Given the description of an element on the screen output the (x, y) to click on. 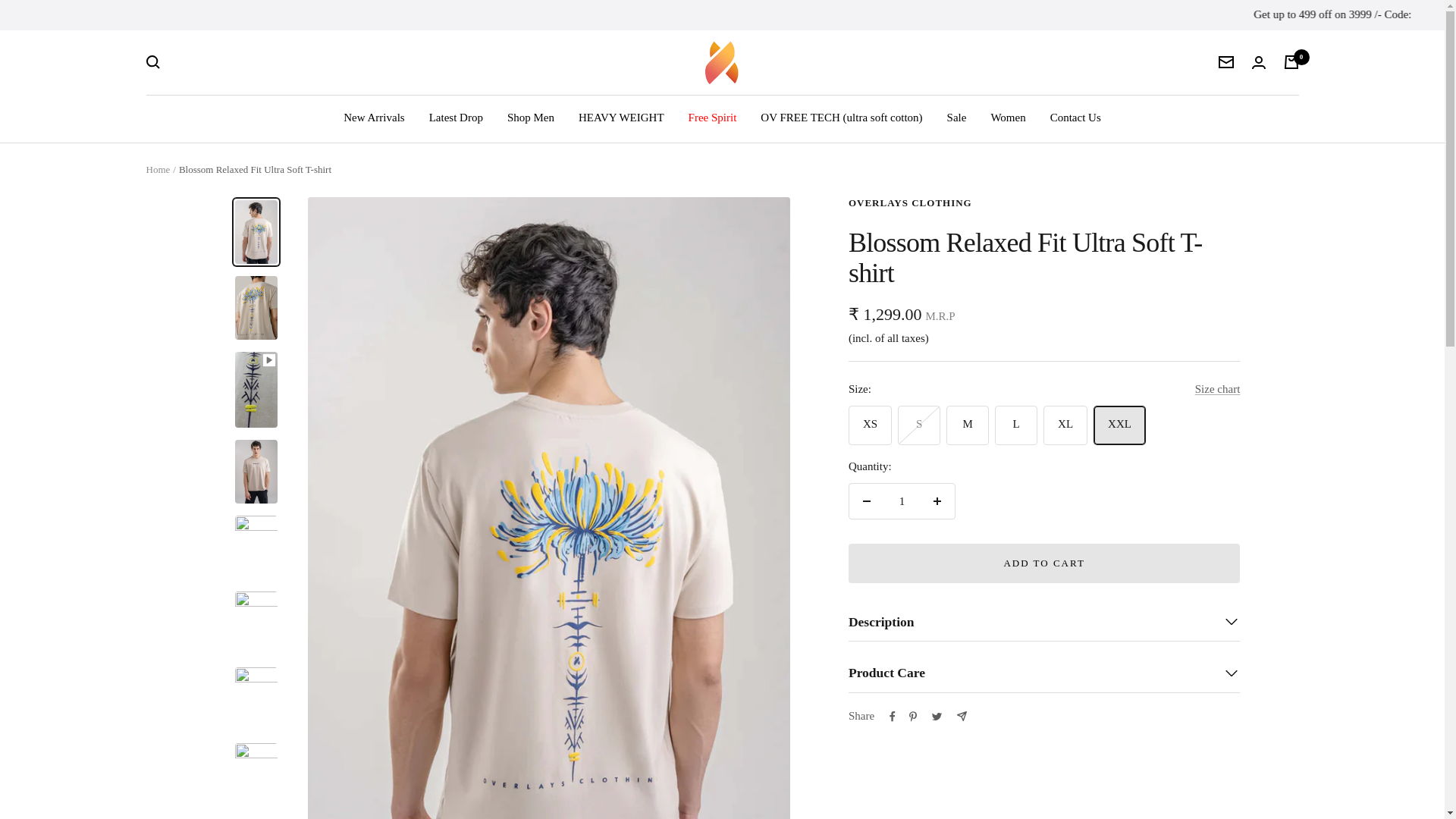
1 (901, 501)
Free Spirit (712, 117)
New Arrivals (373, 117)
Women (1007, 117)
Latest Drop (456, 117)
Shop Men (530, 117)
Sale (956, 117)
HEAVY WEIGHT (620, 117)
0 (1290, 62)
